Given the description of an element on the screen output the (x, y) to click on. 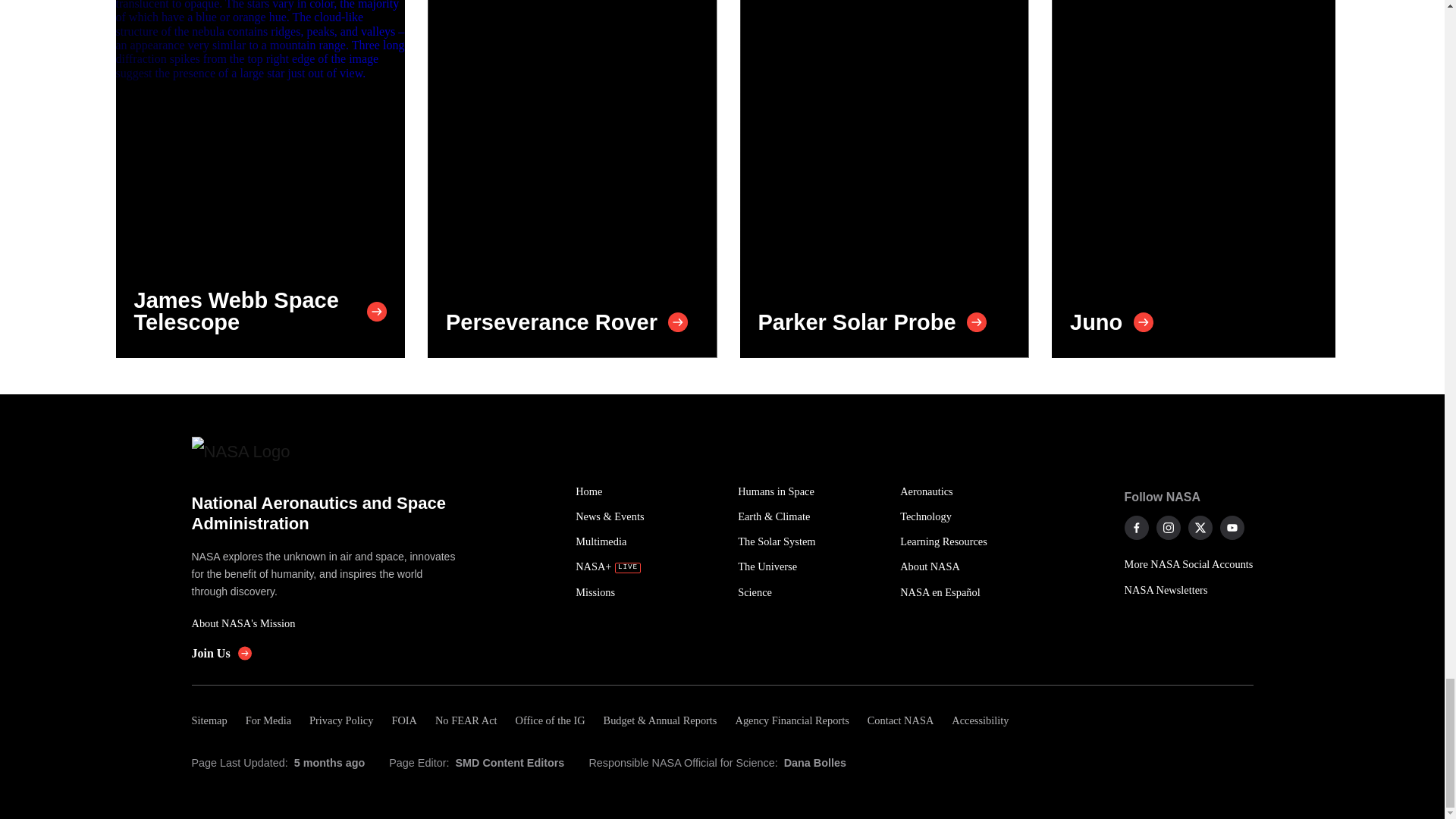
Privacy Policy (340, 720)
For Media (267, 720)
Accessibility (979, 720)
Contact NASA (901, 720)
FOIA (403, 720)
Office of the IG (550, 720)
Sitemap (212, 720)
Agency Financial Reports (791, 720)
No FEAR Act (466, 720)
